Given the description of an element on the screen output the (x, y) to click on. 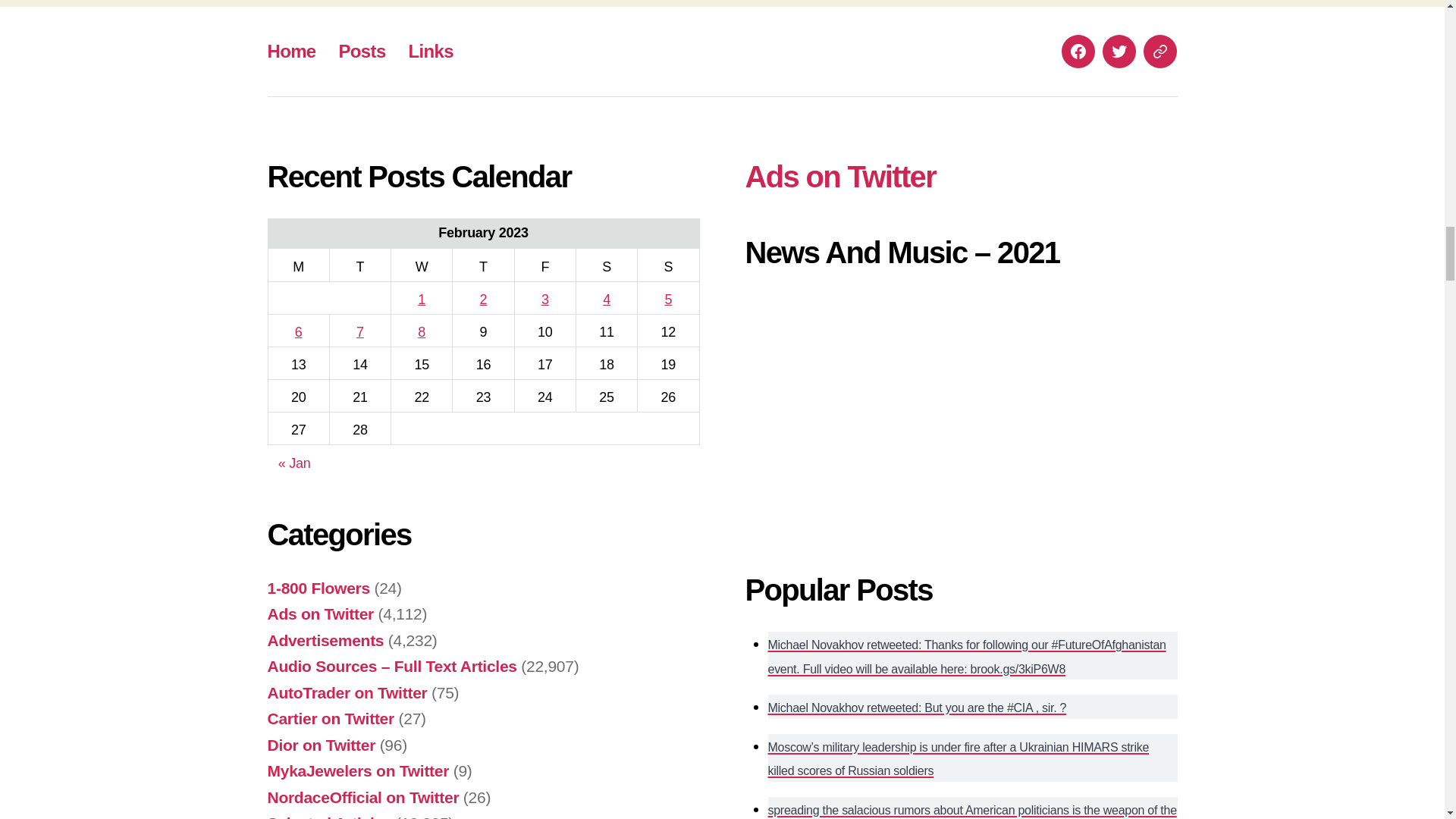
Tuesday (359, 264)
Monday (298, 264)
YouTube video player (956, 413)
Wednesday (421, 264)
Friday (544, 264)
Saturday (606, 264)
Thursday (482, 264)
Sunday (667, 264)
